Given the description of an element on the screen output the (x, y) to click on. 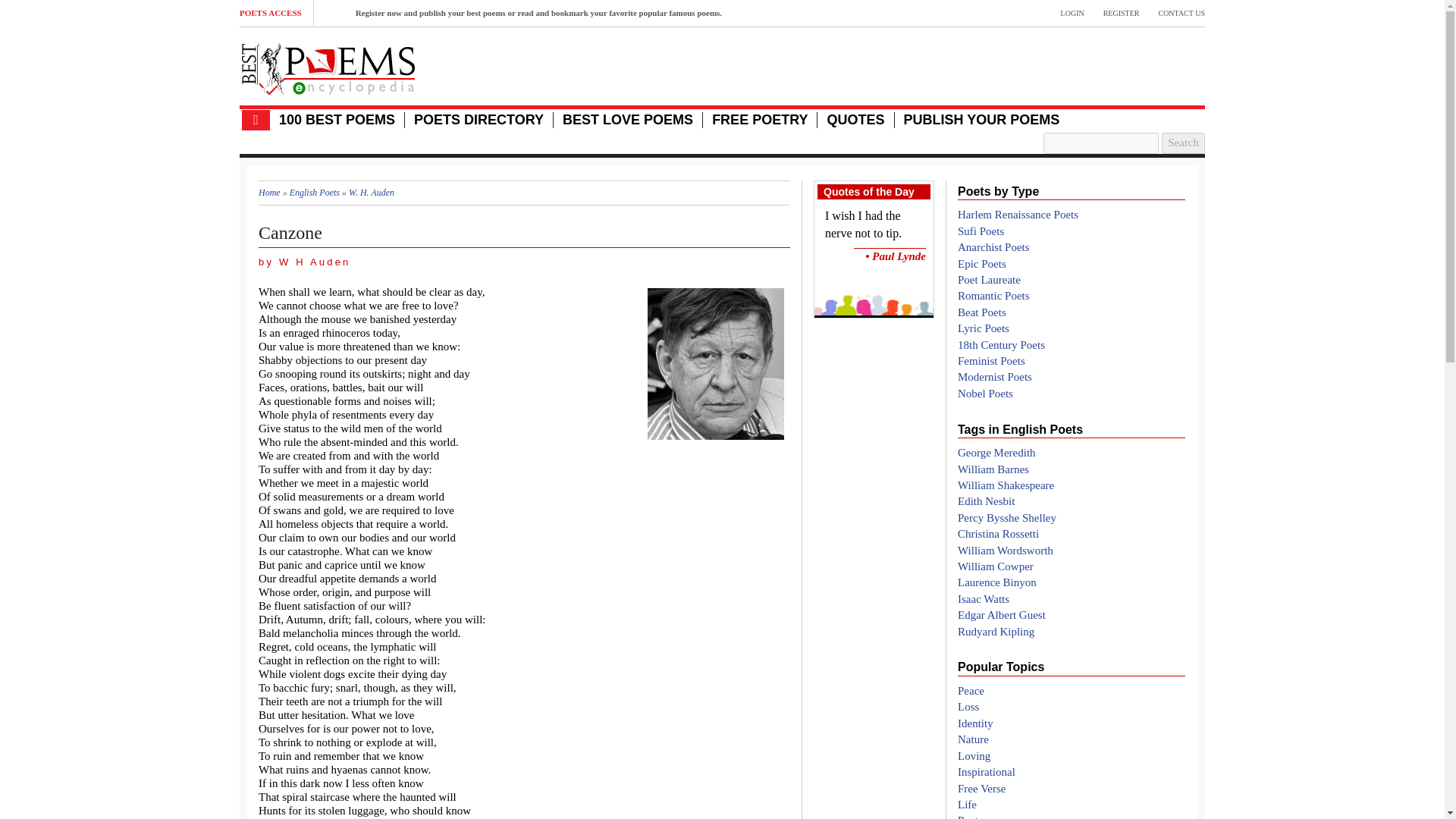
PUBLISH YOUR POEMS (981, 119)
W. H. Auden (715, 363)
FREE POETRY (759, 119)
Search (1183, 142)
BEST LOVE POEMS (627, 119)
Home (270, 192)
POETS DIRECTORY (478, 119)
100 BEST POEMS (336, 119)
QUOTES (855, 119)
English Poets (314, 192)
REGISTER (1121, 13)
CONTACT US (1181, 13)
W. H. Auden (371, 192)
Search (1183, 142)
